Given the description of an element on the screen output the (x, y) to click on. 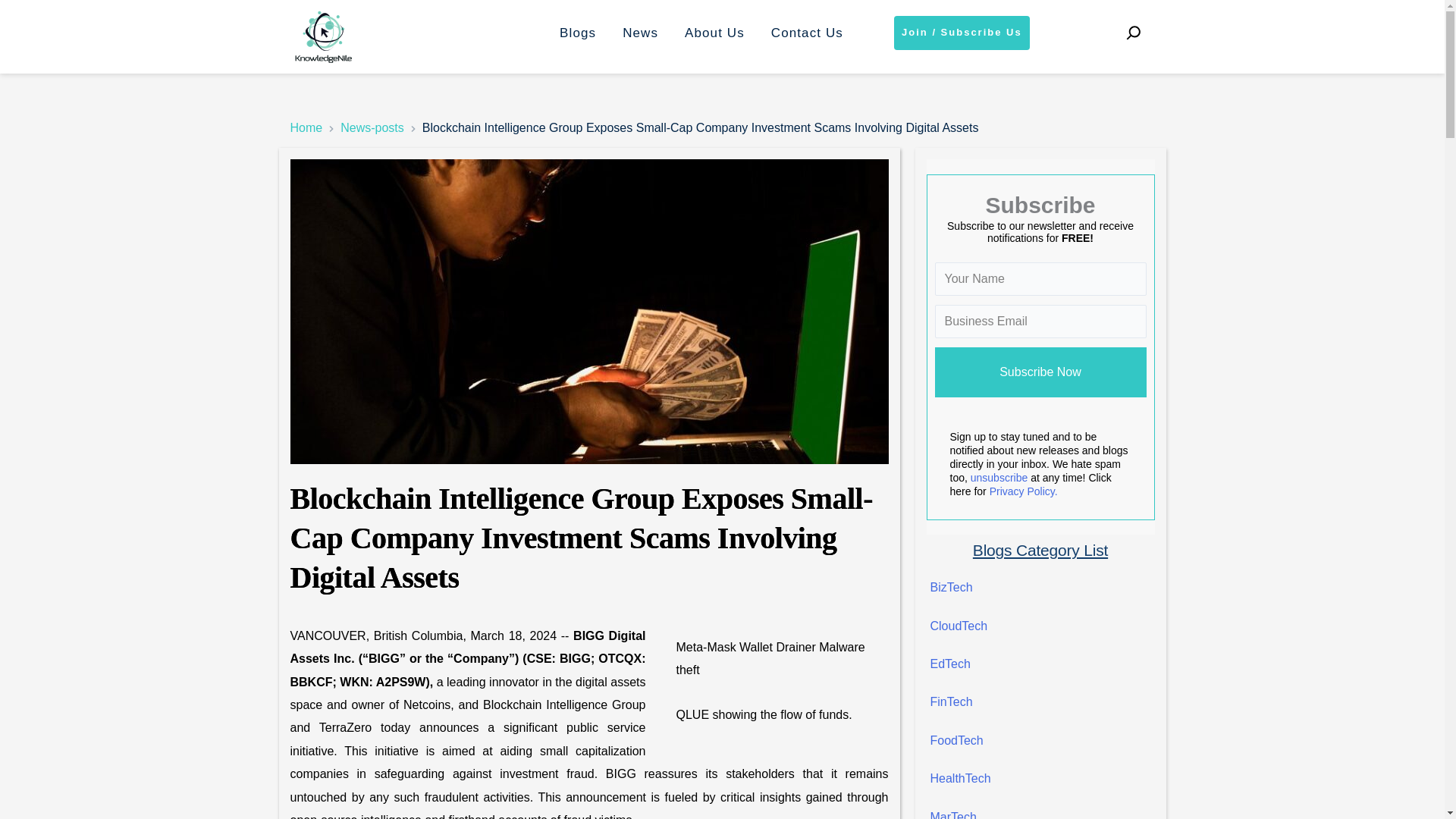
Home (305, 128)
Subscribe Now (1039, 372)
HealthTech (960, 778)
unsubscribe (999, 477)
CloudTech (958, 625)
News-posts (372, 128)
News (640, 33)
EdTech (949, 663)
FinTech (951, 701)
FoodTech (956, 739)
BizTech (951, 586)
Blogs (577, 33)
About Us (714, 33)
Subscribe Now (1039, 372)
